Given the description of an element on the screen output the (x, y) to click on. 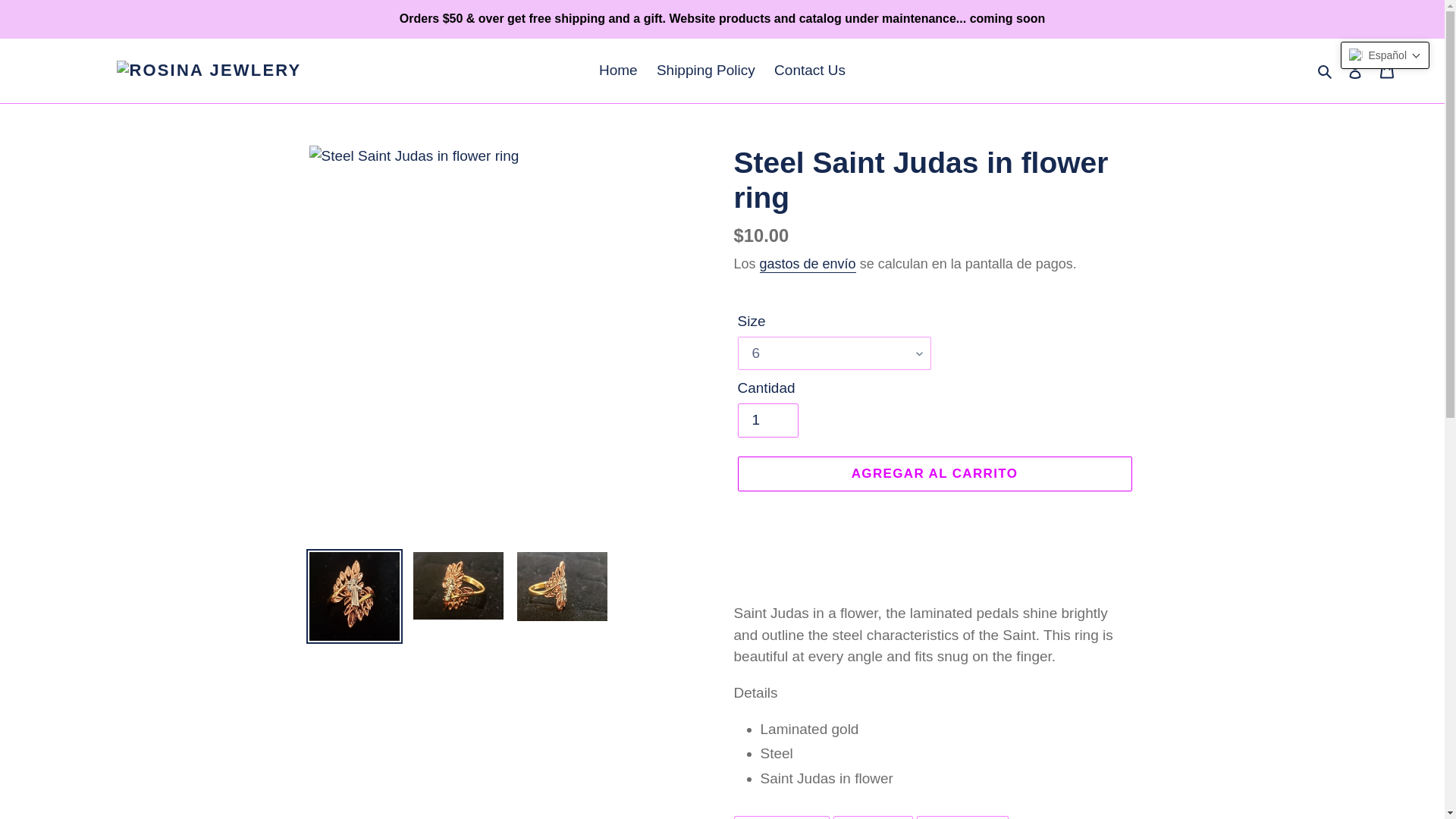
Contact Us (810, 70)
Shipping Policy (705, 70)
Buscar (1326, 70)
1 (963, 817)
AGREGAR AL CARRITO (766, 420)
Home (872, 817)
